Given the description of an element on the screen output the (x, y) to click on. 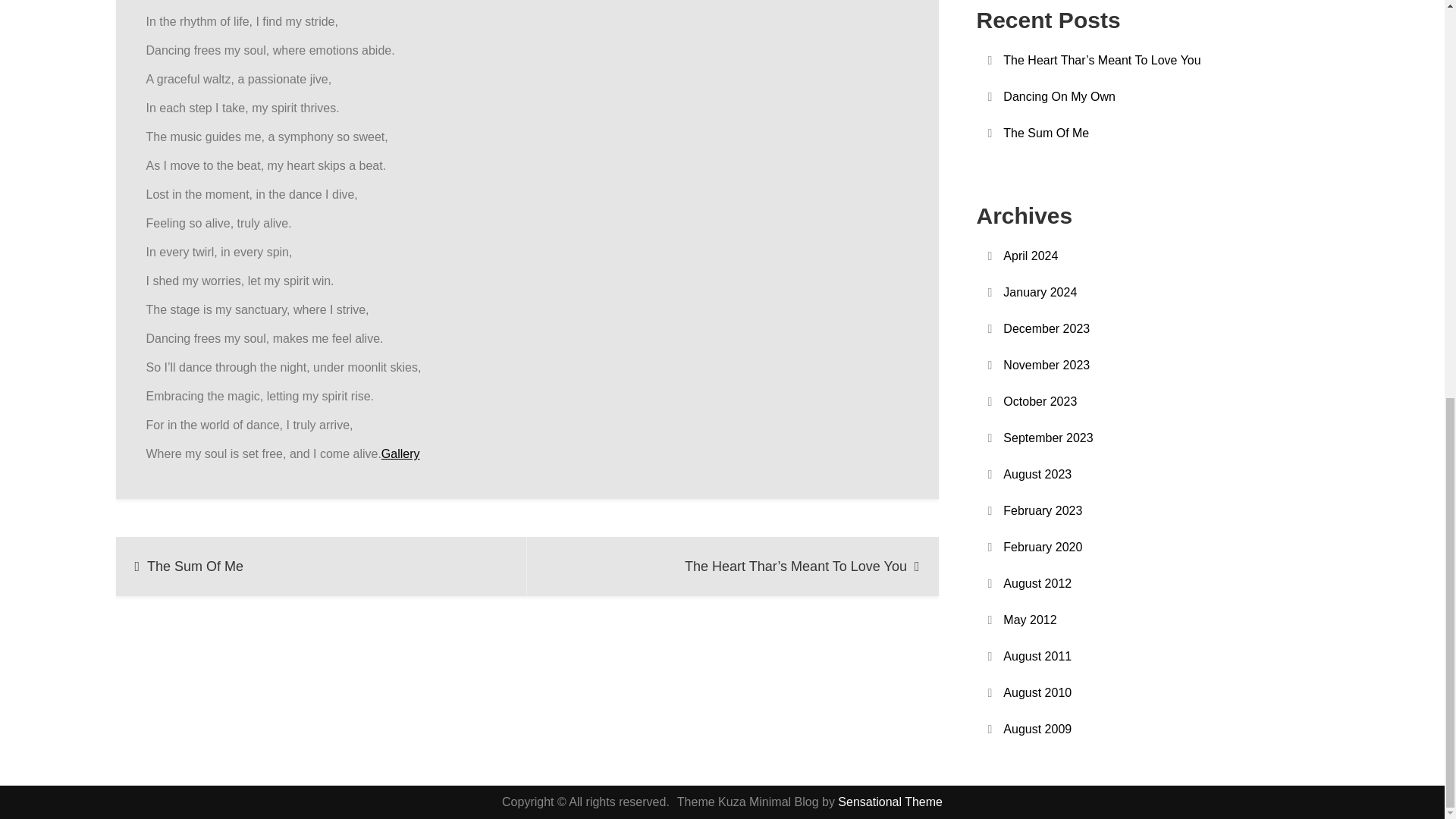
May 2012 (1030, 619)
August 2010 (1037, 692)
December 2023 (1046, 328)
August 2009 (1037, 729)
January 2024 (1040, 292)
February 2020 (1042, 547)
The Sum Of Me (321, 566)
The Sum Of Me (1046, 132)
November 2023 (1046, 364)
Dancing On My Own (1059, 96)
February 2023 (1042, 510)
September 2023 (1048, 437)
August 2012 (1037, 583)
April 2024 (1030, 255)
Sensational Theme (890, 801)
